Given the description of an element on the screen output the (x, y) to click on. 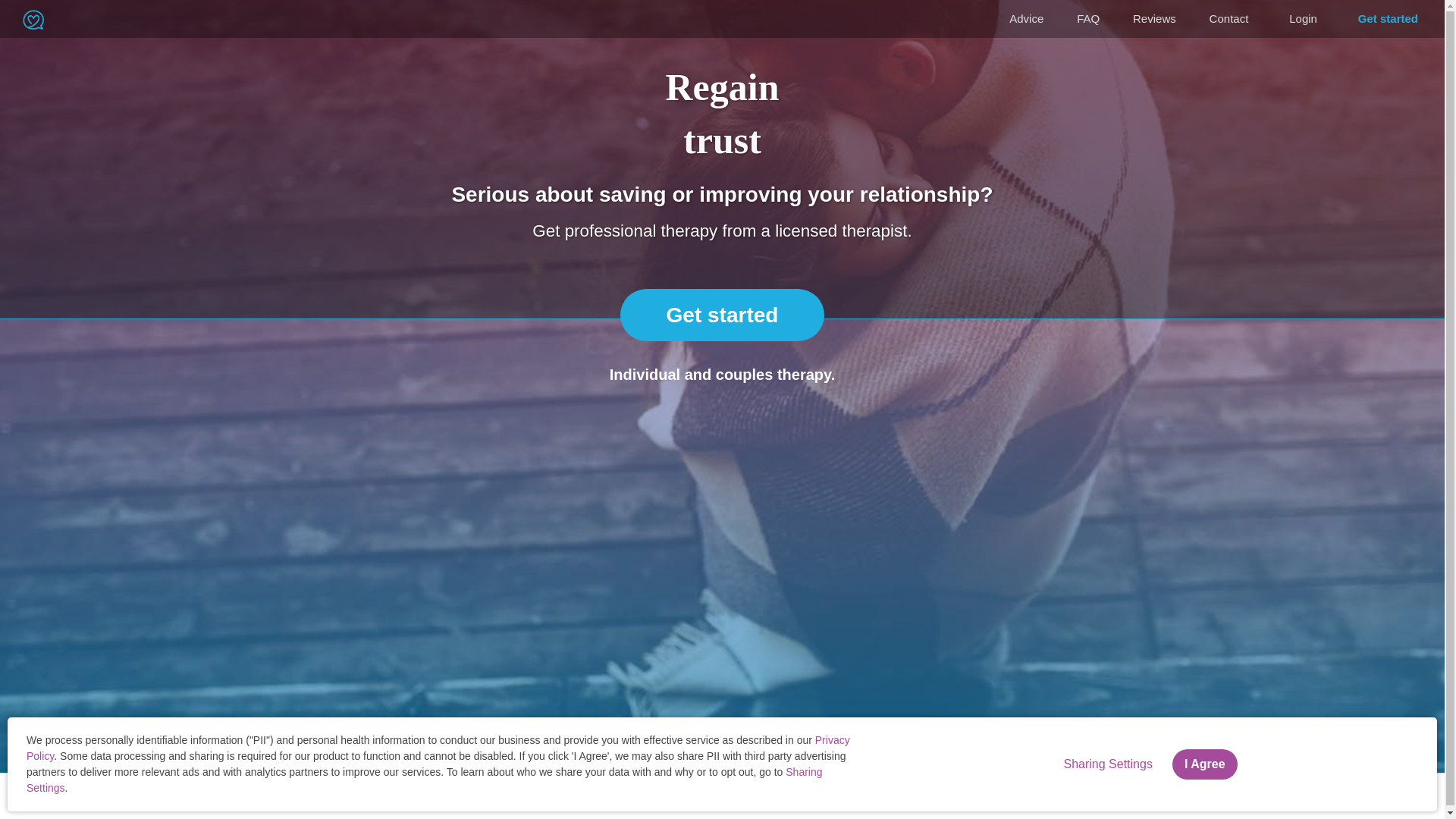
I Agree (1204, 763)
Privacy Policy (438, 747)
Contact (1228, 19)
Sharing Settings (227, 797)
Web Accessibility (316, 797)
Get started (1387, 18)
Reviews (1154, 19)
Get started (722, 315)
These resources (1303, 788)
Privacy Policy (146, 797)
Advice (1026, 19)
Sharing Settings (424, 779)
Sharing Settings (1107, 763)
Login (1303, 18)
FAQ (1088, 19)
